Given the description of an element on the screen output the (x, y) to click on. 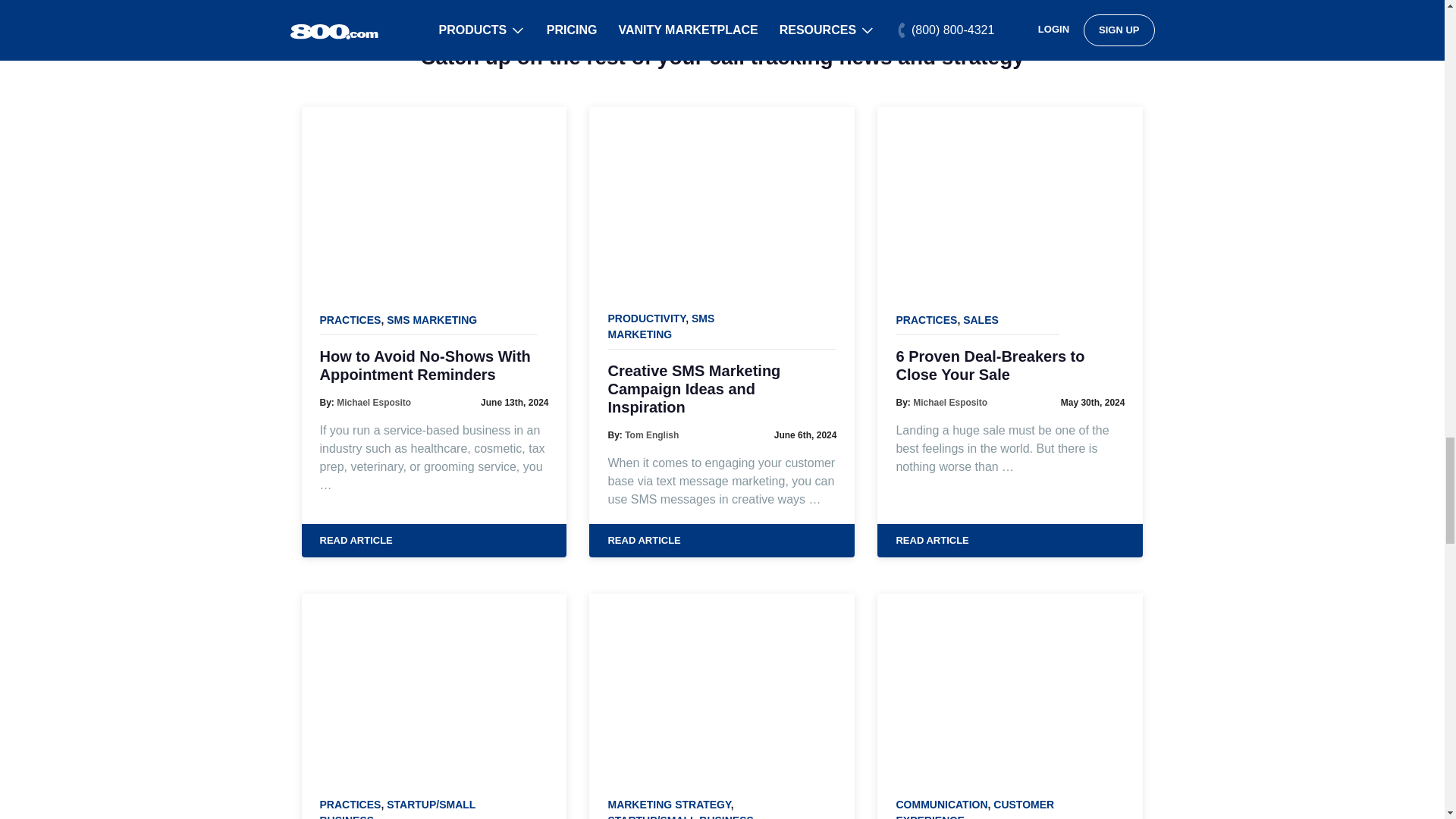
Posts by Tom English (651, 434)
Posts by Michael Esposito (949, 402)
Posts by Michael Esposito (373, 402)
